Given the description of an element on the screen output the (x, y) to click on. 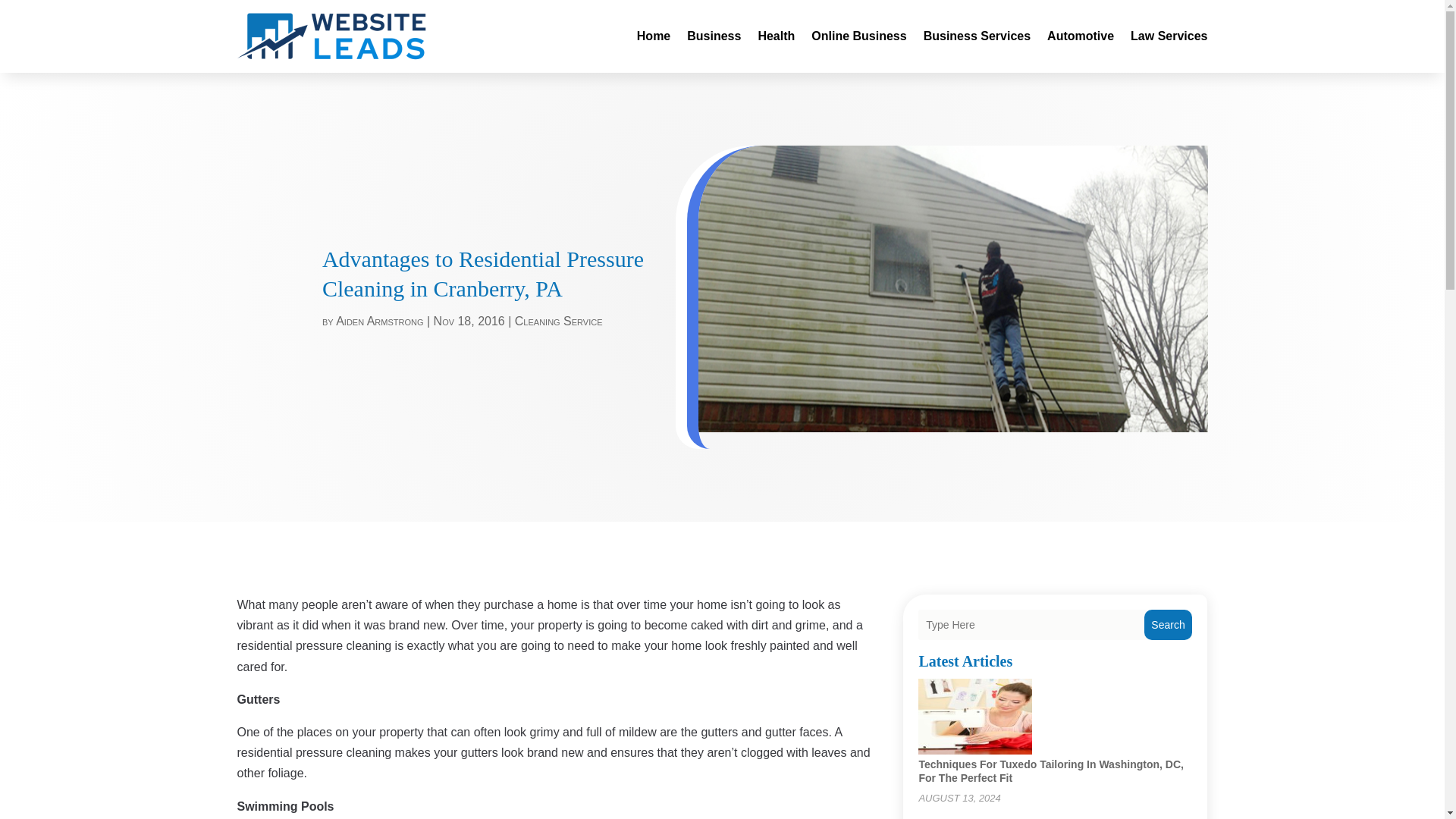
Aiden Armstrong (379, 320)
Business Services (976, 36)
Online Business (857, 36)
Cleaning Service (558, 320)
Business (714, 36)
Posts by Aiden Armstrong (379, 320)
Automotive (1079, 36)
Law Services (1169, 36)
Search (1168, 624)
